Given the description of an element on the screen output the (x, y) to click on. 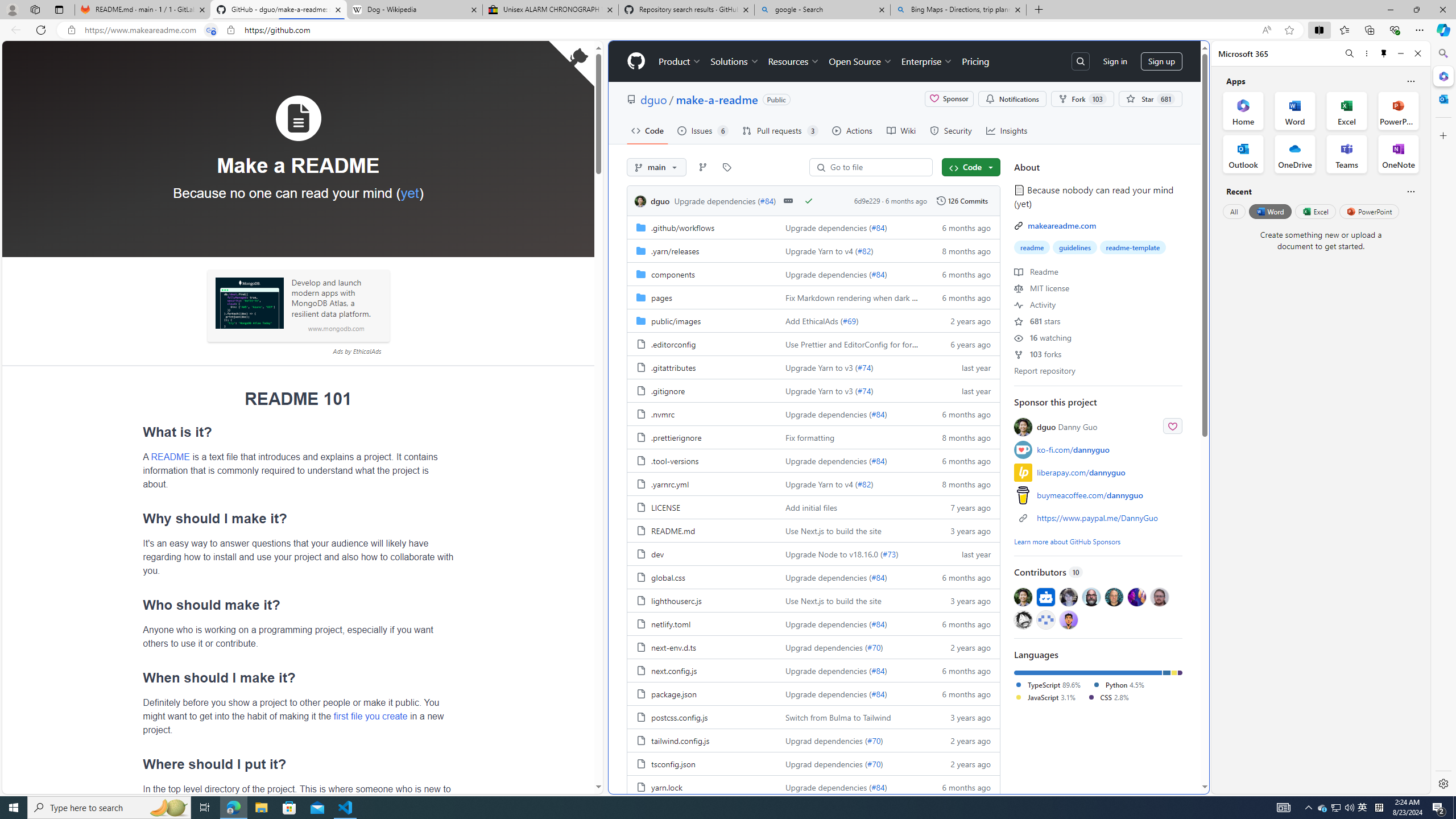
Sign in (1115, 61)
AutomationID: folder-row-16 (813, 599)
8 months ago (961, 483)
next-env.d.ts, (File) (701, 646)
dev, (File) (656, 553)
Enterprise (927, 60)
AutomationID: folder-row-18 (813, 646)
.yarn/releases, (Directory) (674, 250)
Add initial files (810, 506)
Issues 6 (702, 130)
https://www.paypal.me/DannyGuo (1096, 518)
yarn.lock, (File) (666, 786)
TypeScript89.6% (1052, 684)
